Given the description of an element on the screen output the (x, y) to click on. 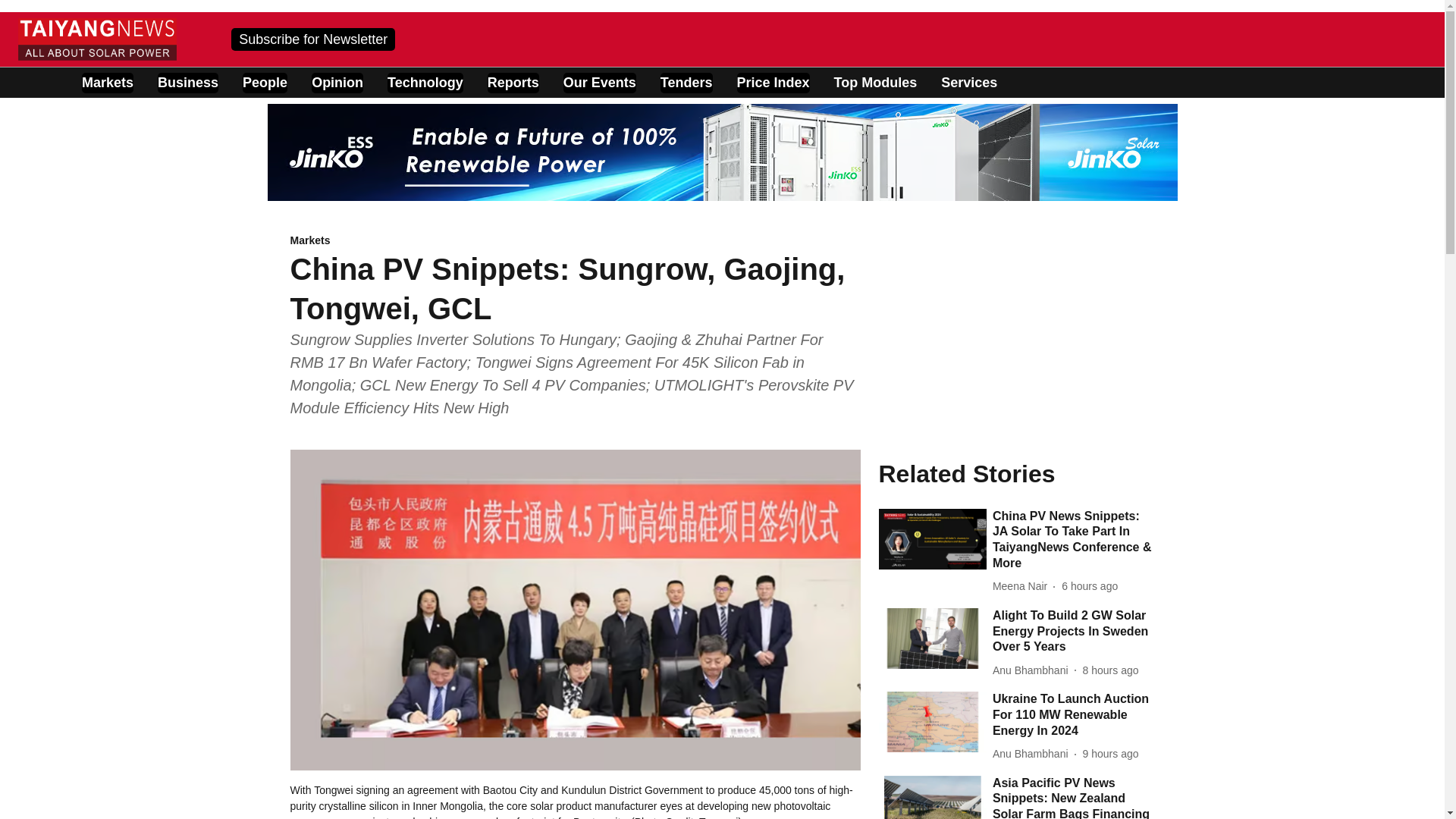
Our Events (599, 82)
Markets (574, 241)
2024-08-19 11:40 (1110, 754)
2024-08-19 12:00 (1110, 670)
Price Index (772, 82)
Tenders (687, 82)
2024-08-19 14:11 (1089, 586)
Business (187, 82)
Technology (425, 82)
